Given the description of an element on the screen output the (x, y) to click on. 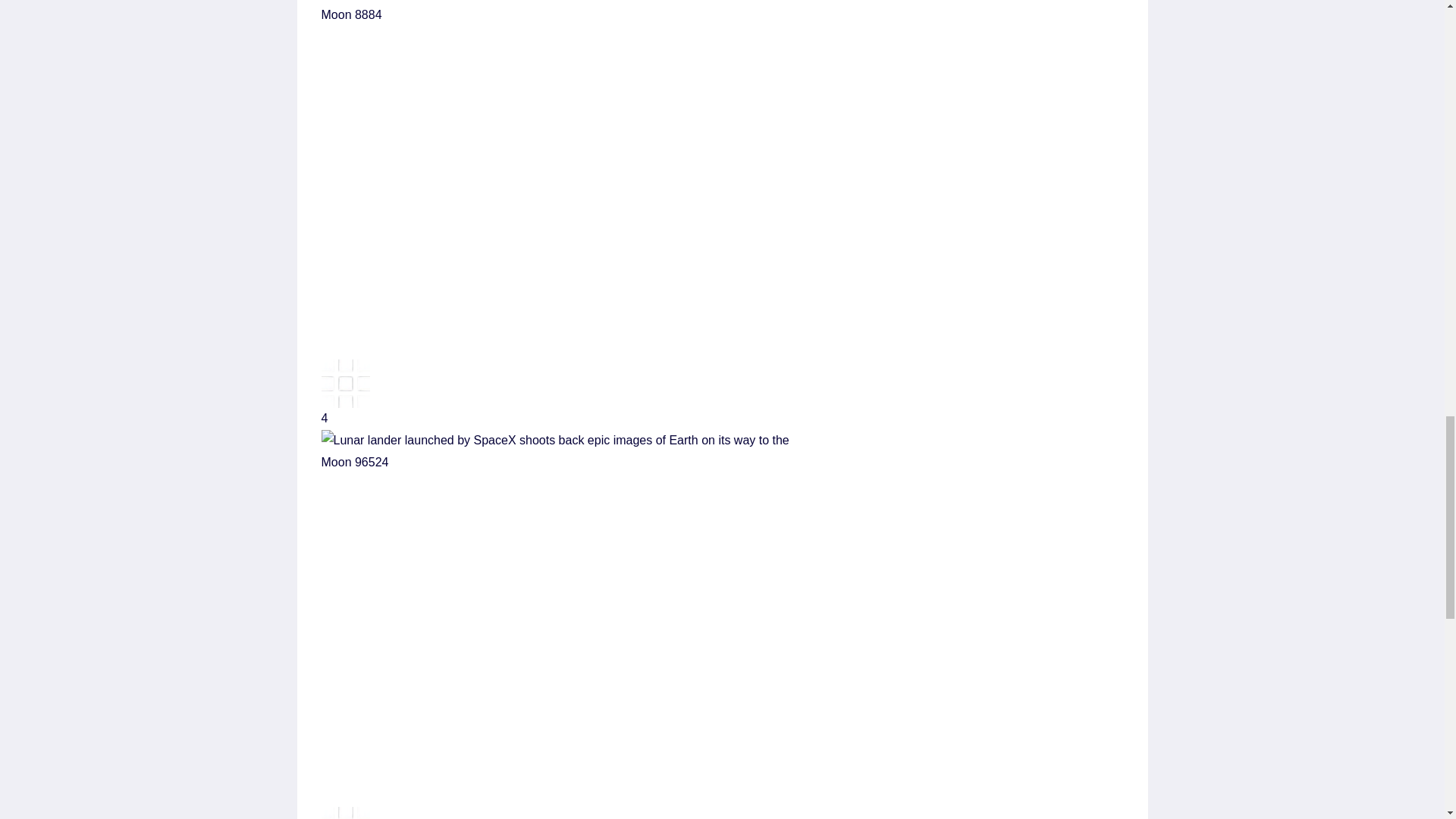
Open Gallery (722, 774)
Open Gallery (722, 354)
